Given the description of an element on the screen output the (x, y) to click on. 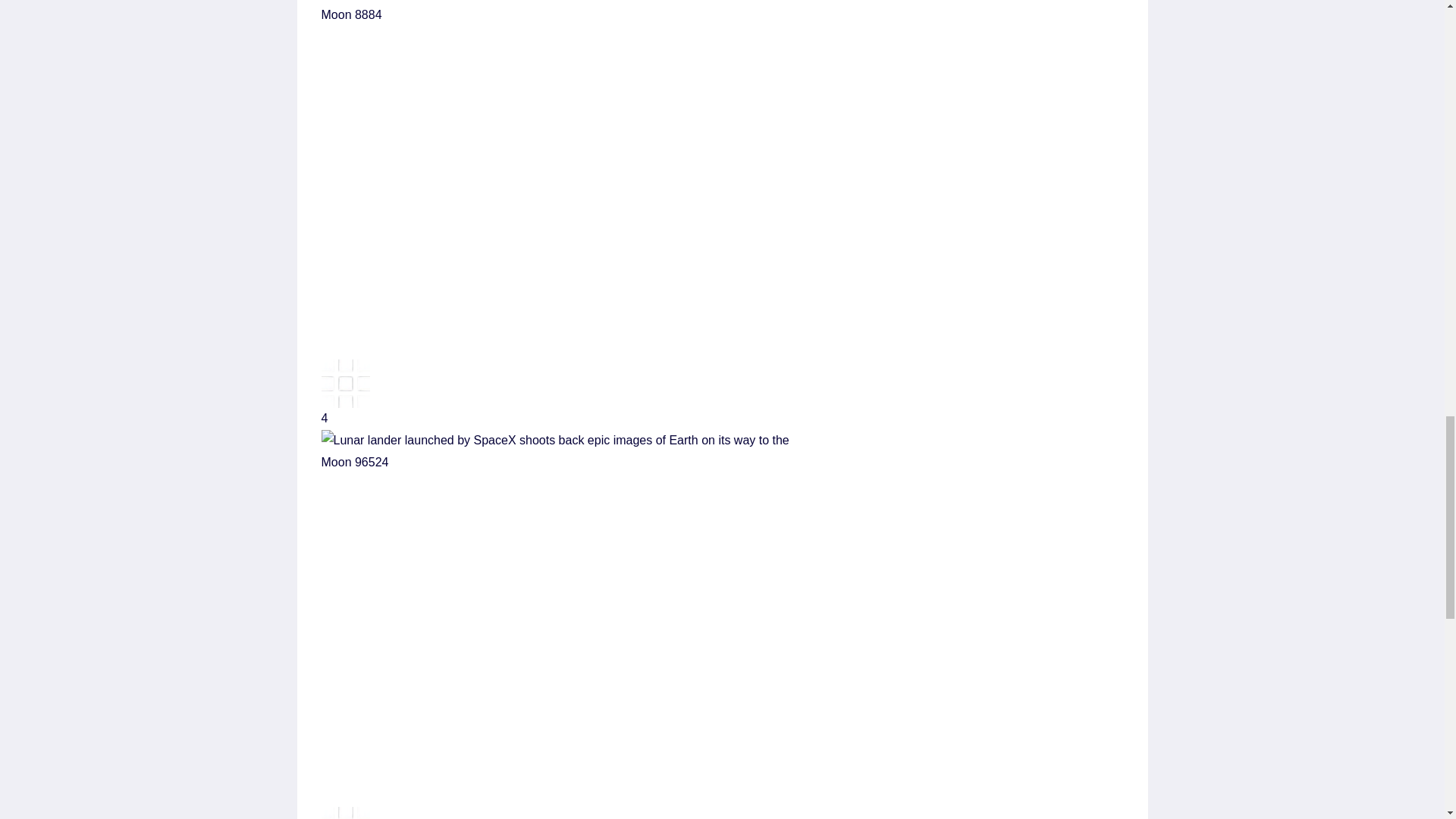
Open Gallery (722, 774)
Open Gallery (722, 354)
